Given the description of an element on the screen output the (x, y) to click on. 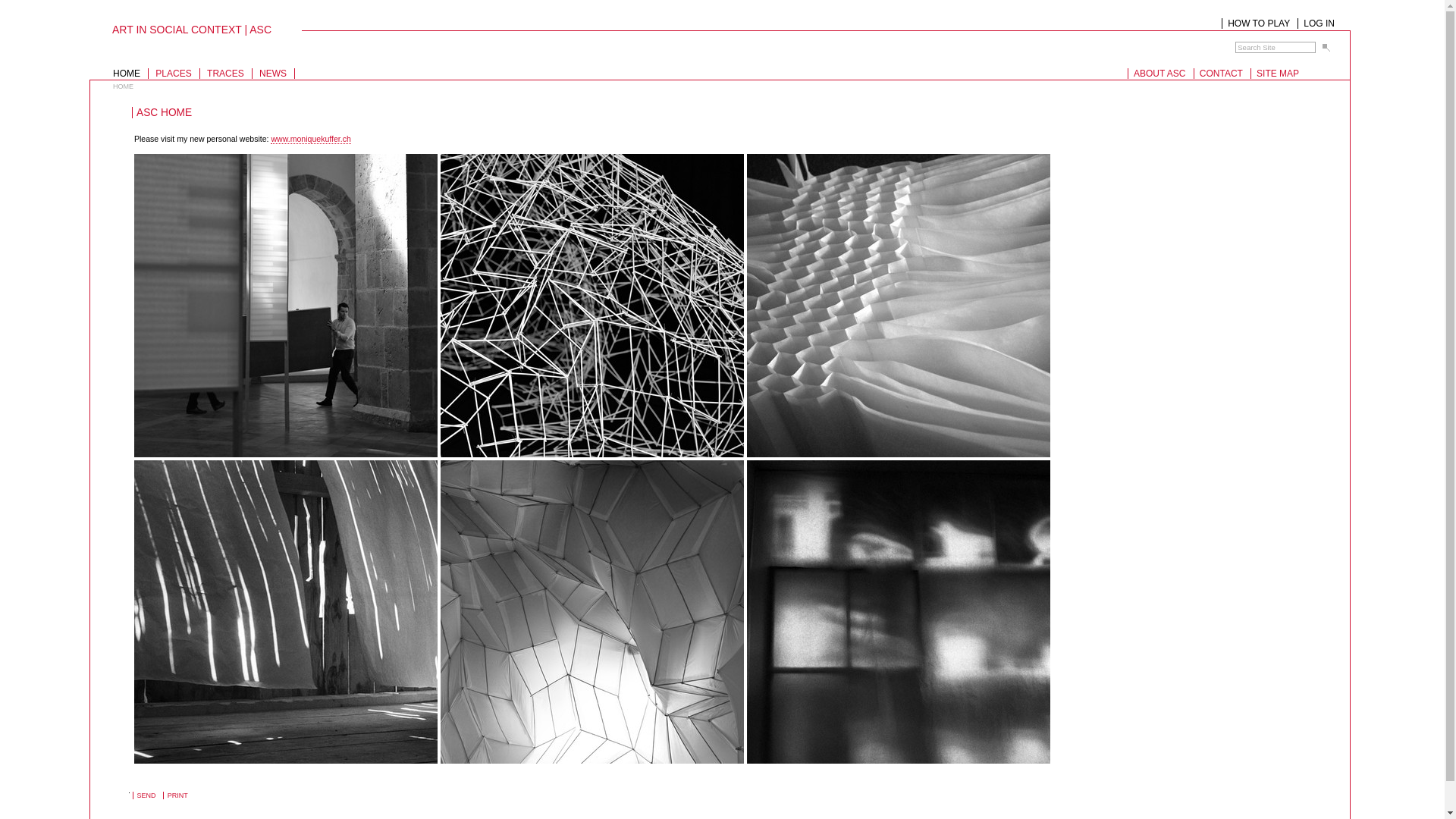
LOG IN Element type: text (1315, 23)
10:10 Element type: hover (285, 611)
NEWS Element type: text (274, 73)
PLACES Element type: text (174, 73)
pan Element type: hover (591, 305)
SITE MAP Element type: text (1274, 73)
HOW TO PLAY Element type: text (1255, 23)
stream Element type: hover (898, 305)
ART IN SOCIAL CONTEXT | ASC Element type: text (715, 35)
HOME Element type: text (122, 86)
TRACES Element type: text (227, 73)
ABOUT ASC Element type: text (1156, 73)
bonmont Element type: hover (285, 305)
www.moniquekuffer.ch Element type: text (310, 139)
PRINT Element type: text (177, 795)
CONTACT Element type: text (1217, 73)
Search Site Element type: hover (1275, 47)
SEND Element type: text (145, 795)
HOME Element type: text (128, 73)
